Given the description of an element on the screen output the (x, y) to click on. 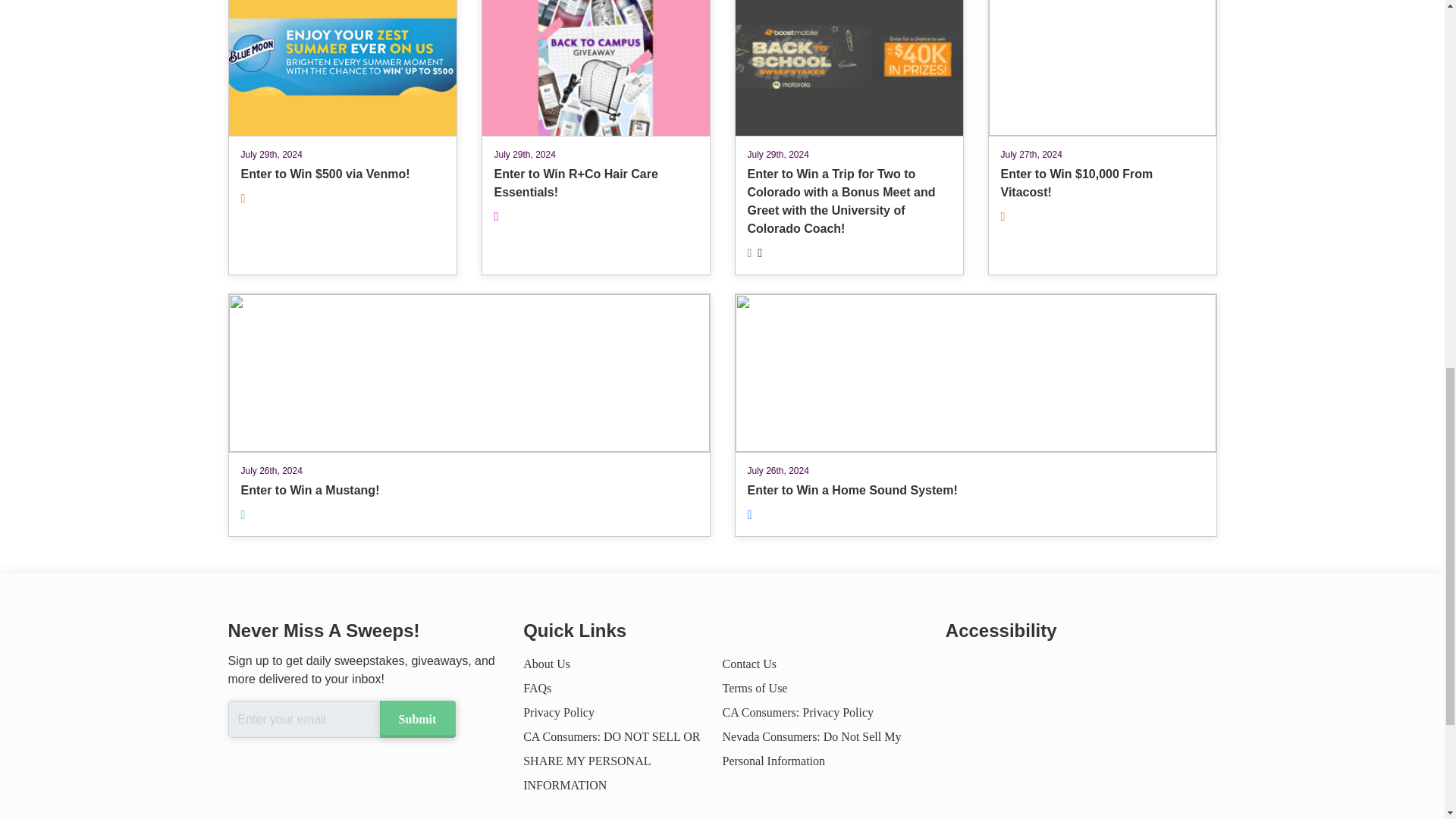
Contact Us (749, 663)
Submit (416, 719)
Privacy Policy (974, 415)
CA Consumers: Privacy Policy (558, 712)
FAQs (797, 712)
About Us (536, 687)
Terms of Use (546, 663)
